Given the description of an element on the screen output the (x, y) to click on. 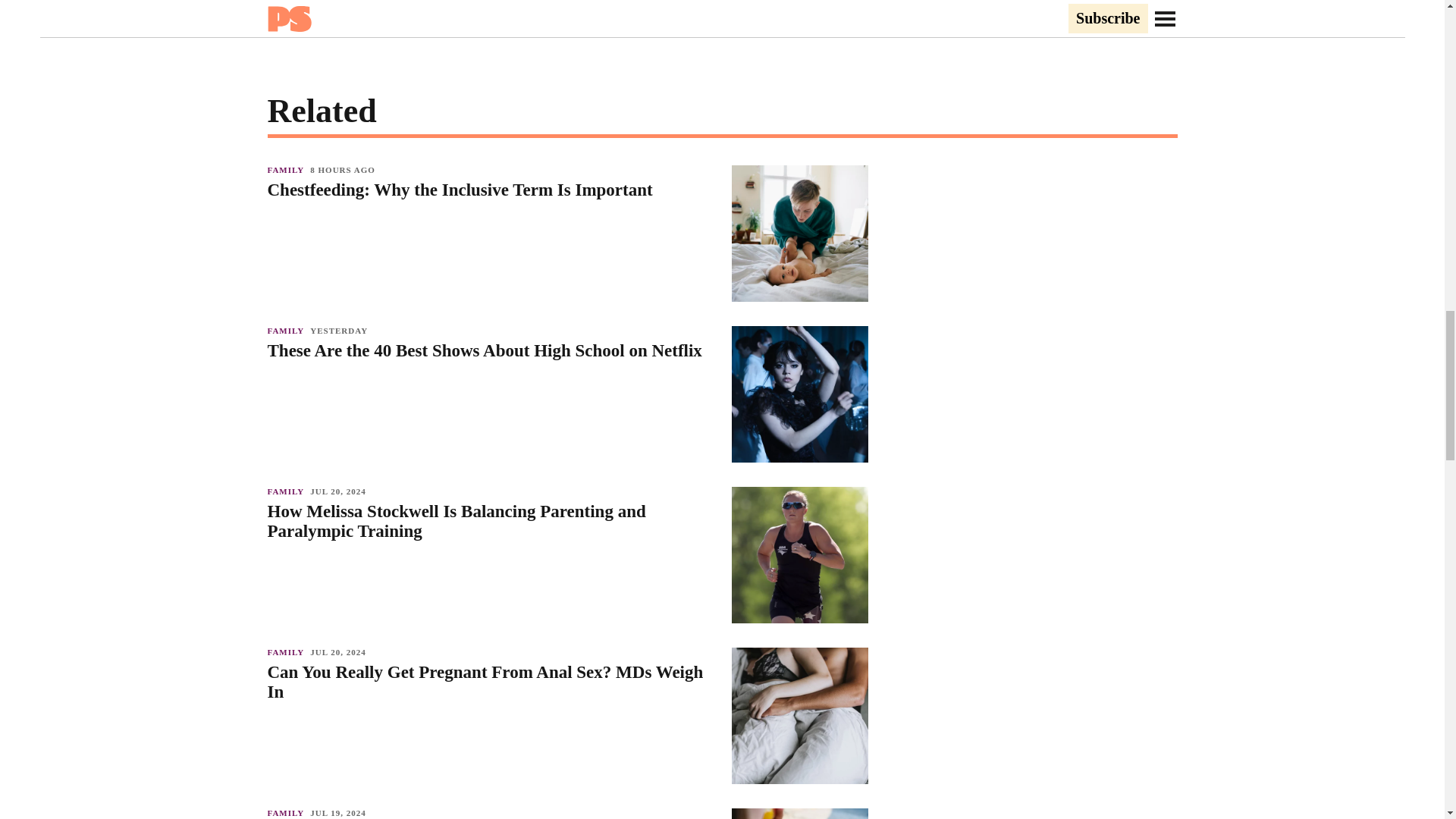
FAMILY (288, 169)
FAMILY (288, 651)
FAMILY (288, 812)
FAMILY (288, 491)
Can You Really Get Pregnant From Anal Sex? MDs Weigh In (491, 681)
Chestfeeding: Why the Inclusive Term Is Important (491, 189)
FAMILY (288, 329)
These Are the 40 Best Shows About High School on Netflix (491, 351)
